Given the description of an element on the screen output the (x, y) to click on. 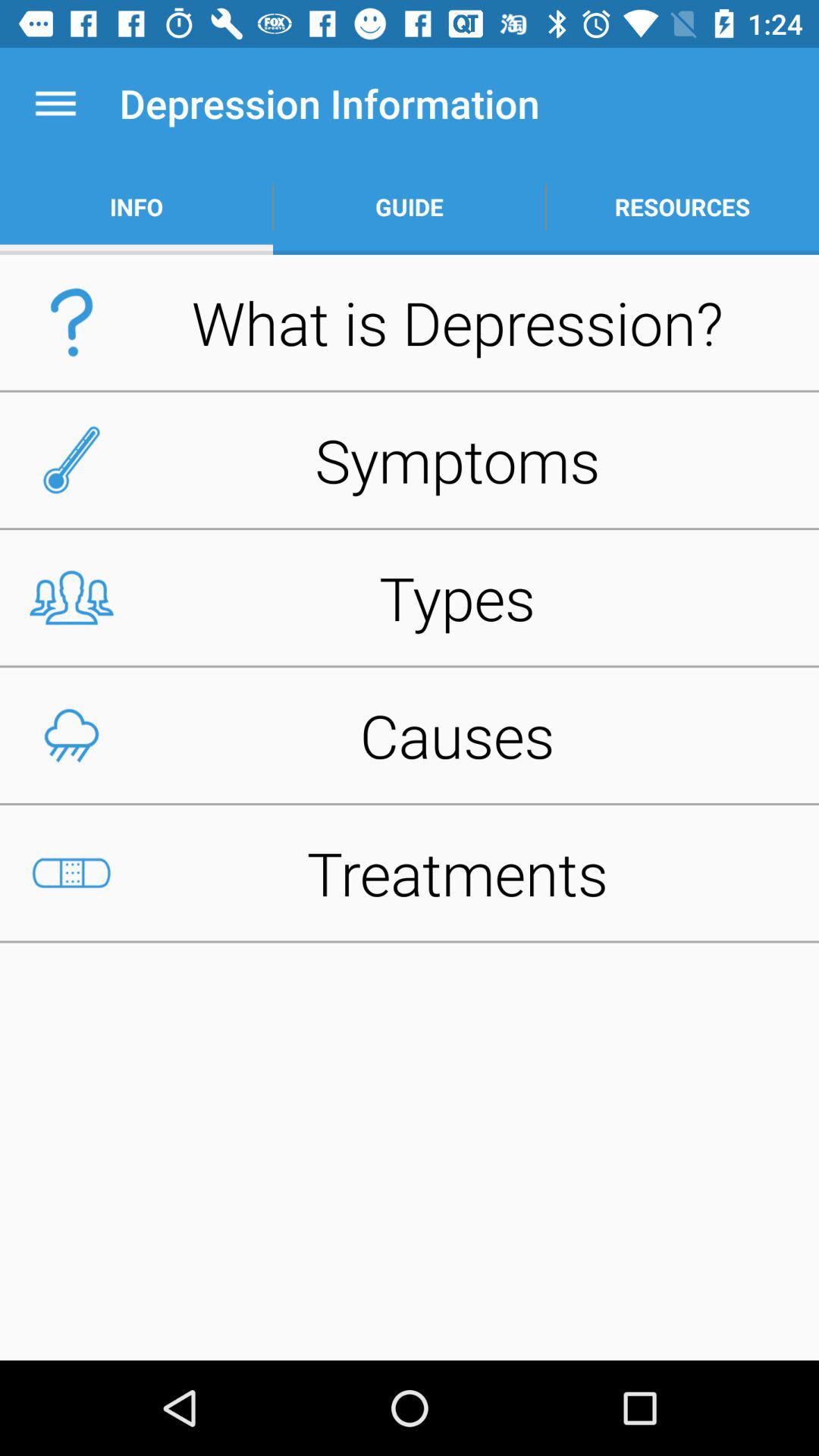
tap the resources app (682, 206)
